Given the description of an element on the screen output the (x, y) to click on. 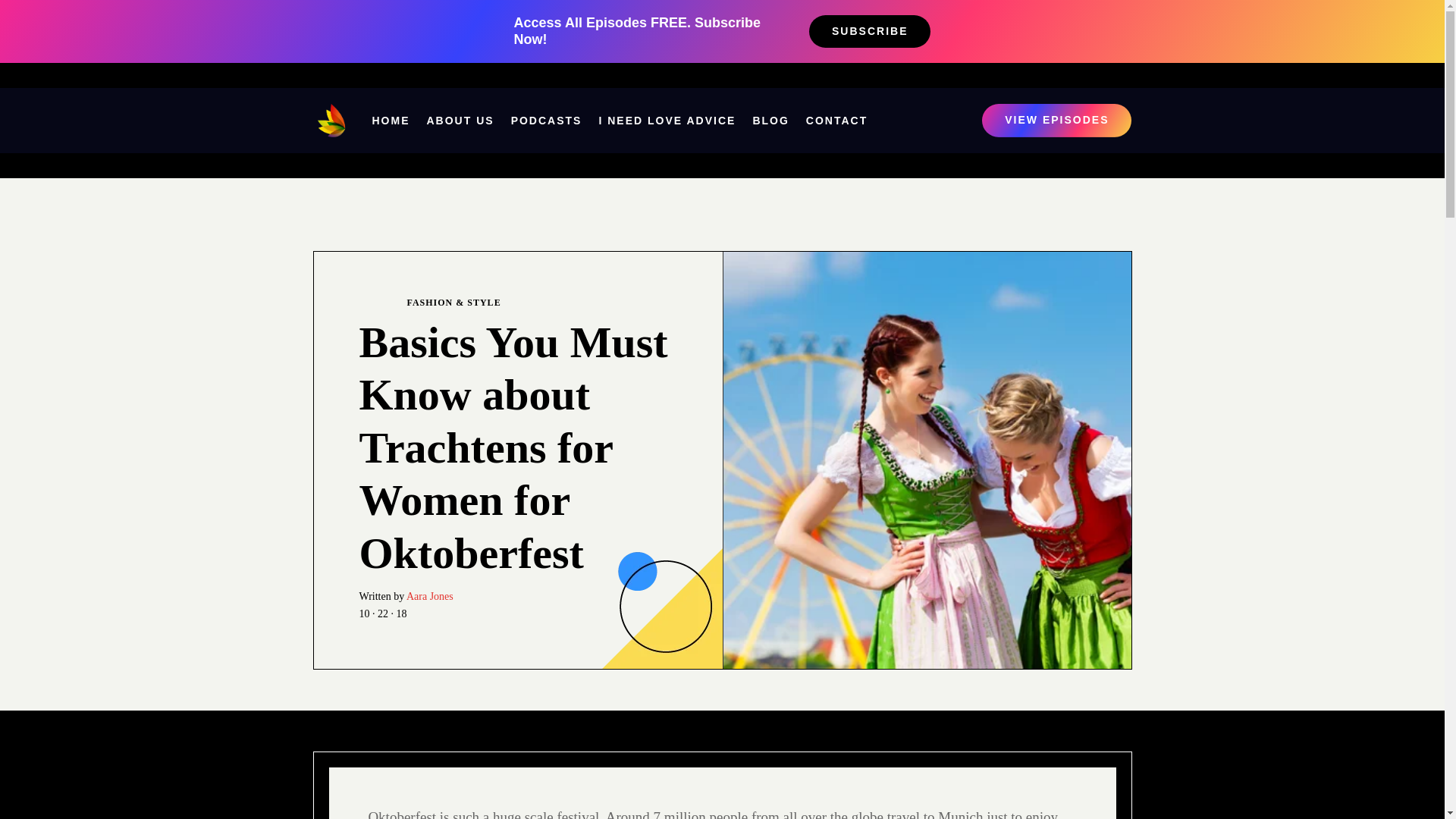
VIEW EPISODES (1056, 120)
ABOUT US (459, 120)
consultant-01 (660, 608)
Aara Jones (429, 595)
PODCASTS (546, 120)
CONTACT (836, 120)
I NEED LOVE ADVICE (666, 120)
SUBSCRIBE (869, 31)
